Given the description of an element on the screen output the (x, y) to click on. 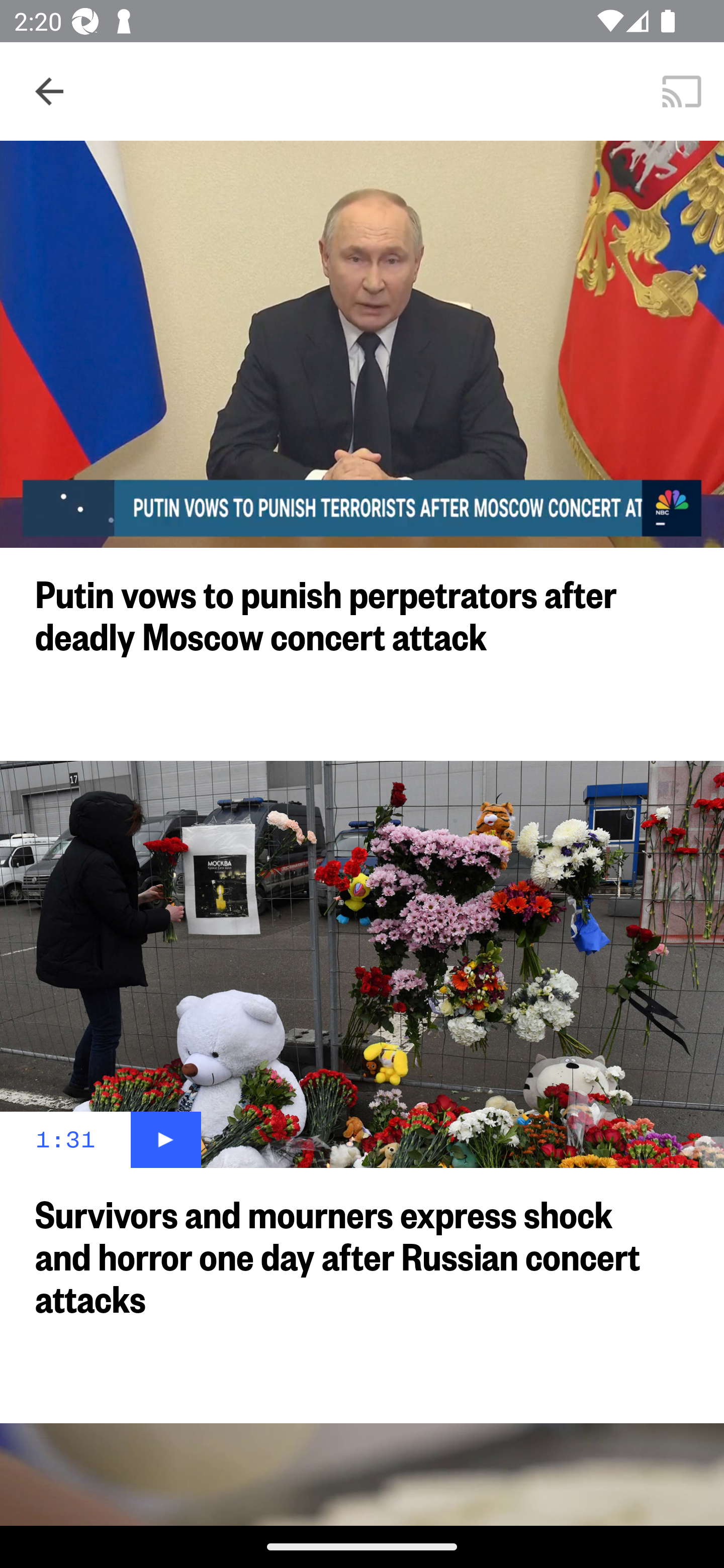
Navigate up (49, 91)
Cast. Disconnected (681, 90)
